Given the description of an element on the screen output the (x, y) to click on. 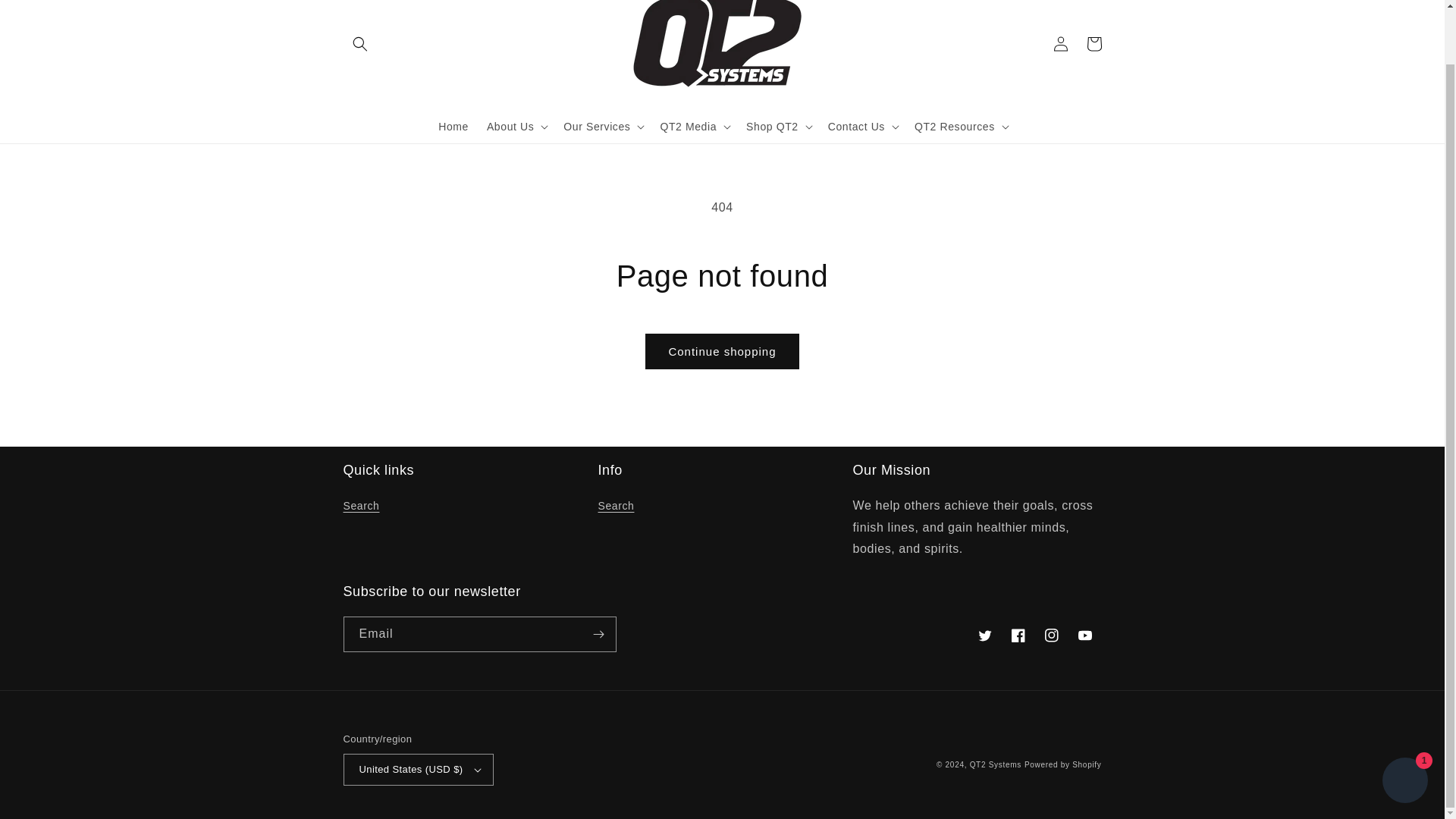
Shopify online store chat (1404, 723)
